Given the description of an element on the screen output the (x, y) to click on. 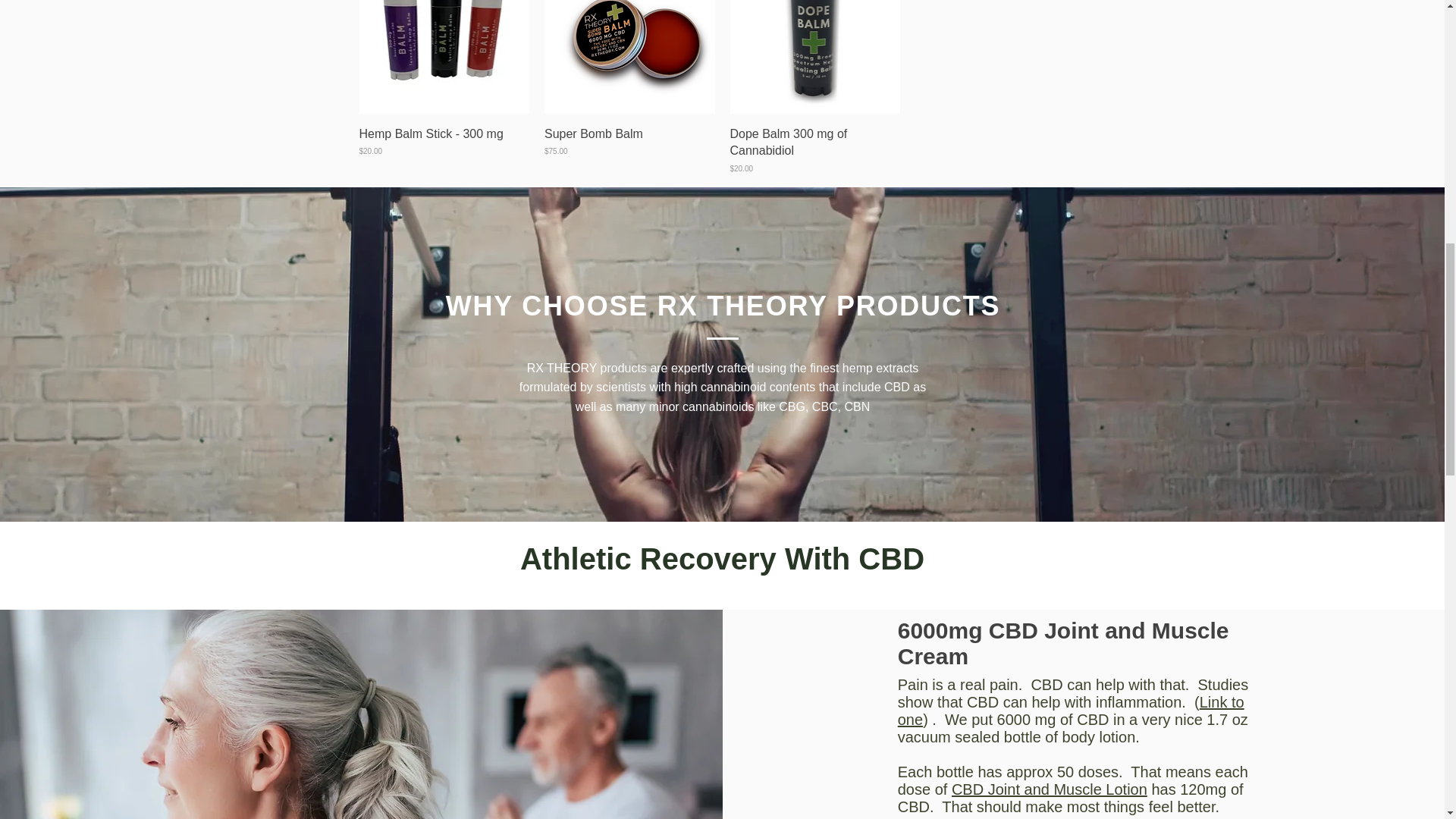
CBD Joint and Muscle Lotion (1049, 789)
300mg (444, 56)
6000mg CBD Joint and Muscle Cream  (1063, 643)
6000 mg (629, 56)
Amazing Deal (814, 56)
Link to one (1071, 710)
